Given the description of an element on the screen output the (x, y) to click on. 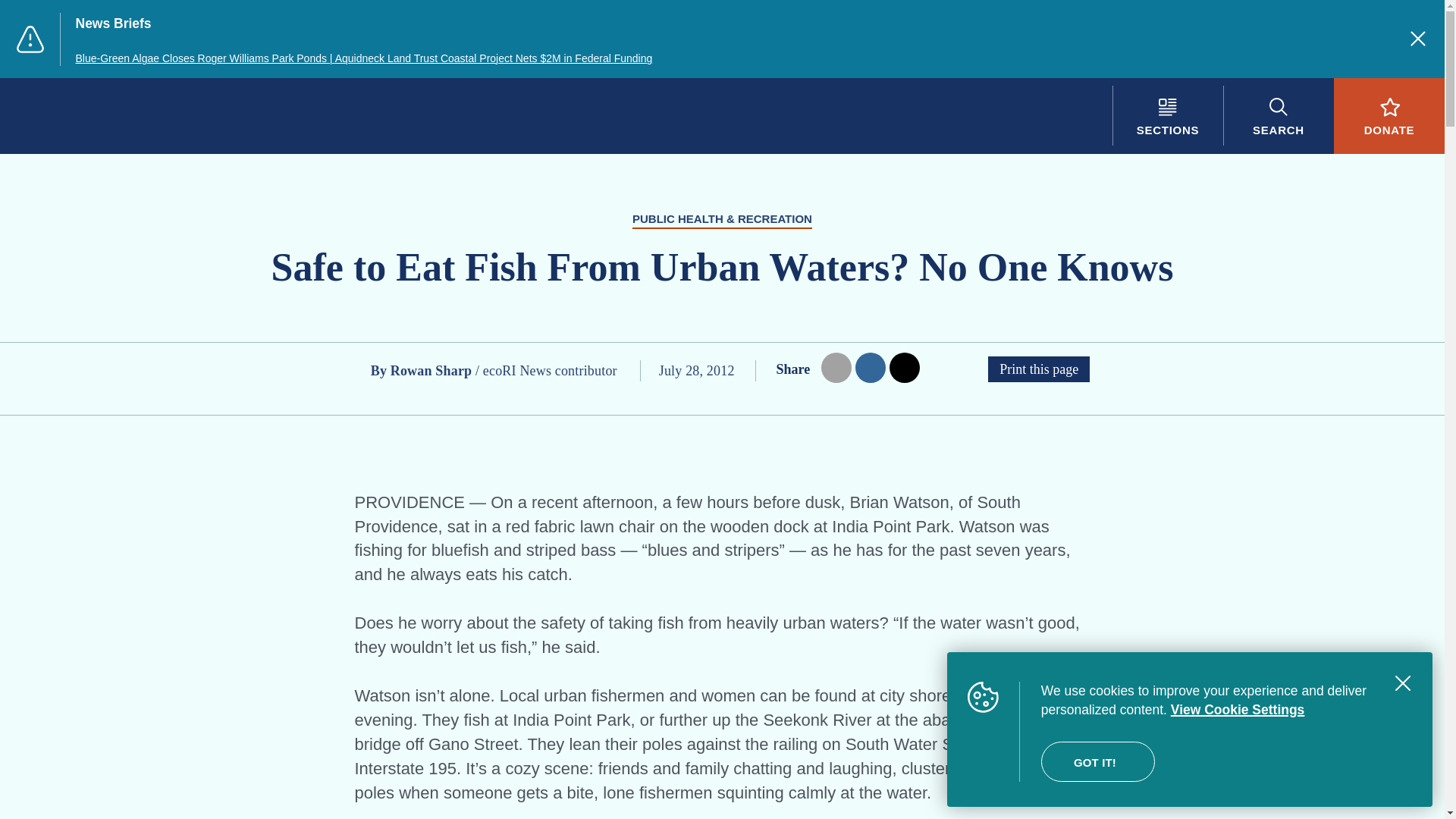
Close view (1402, 683)
Search Button (1278, 115)
Alert (29, 39)
Close (1417, 38)
SECTIONS (1167, 115)
